Given the description of an element on the screen output the (x, y) to click on. 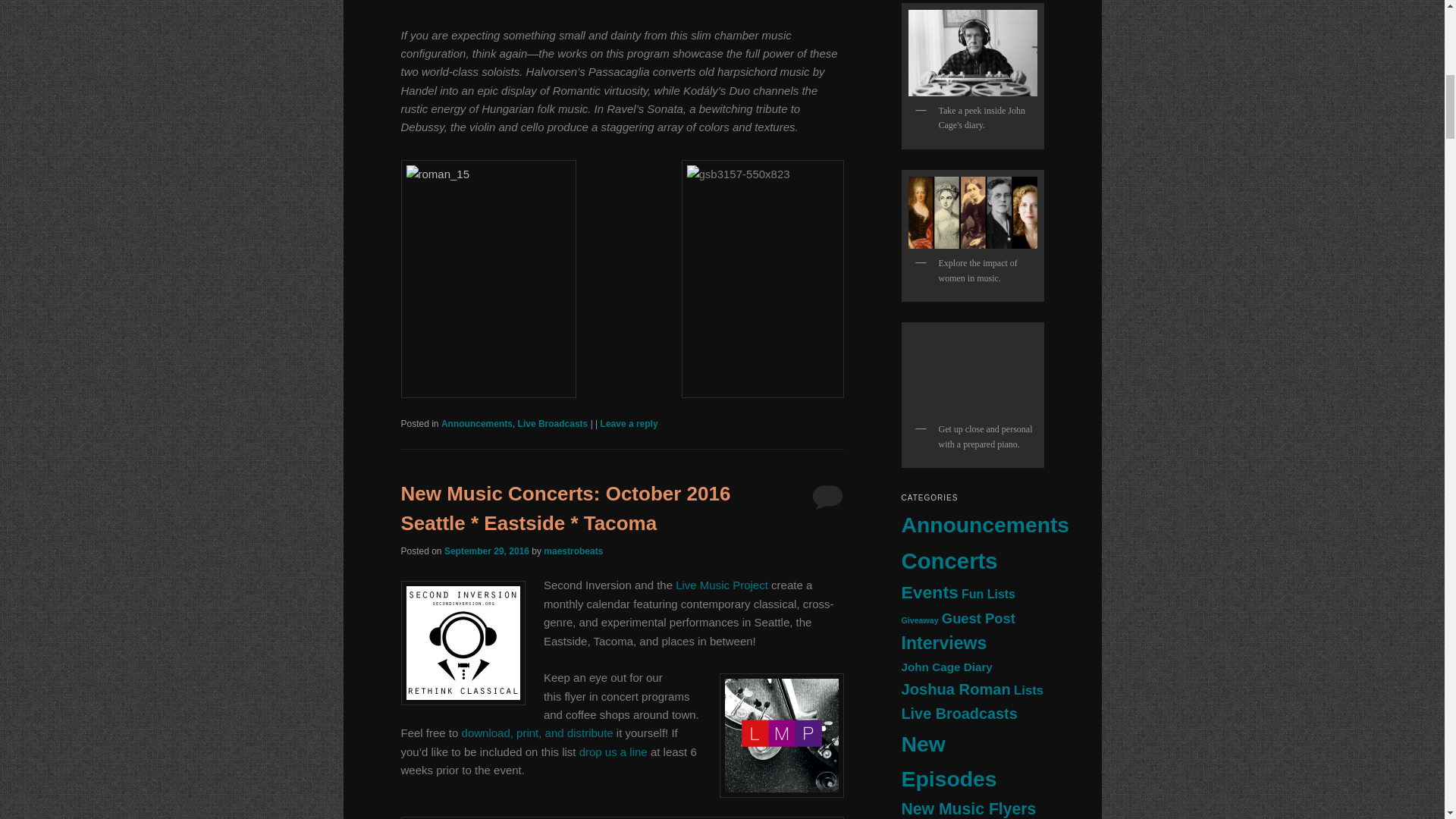
Announcements (476, 423)
Live Broadcasts (553, 423)
4:51 PM (486, 551)
View all posts by maestrobeats (572, 551)
